Given the description of an element on the screen output the (x, y) to click on. 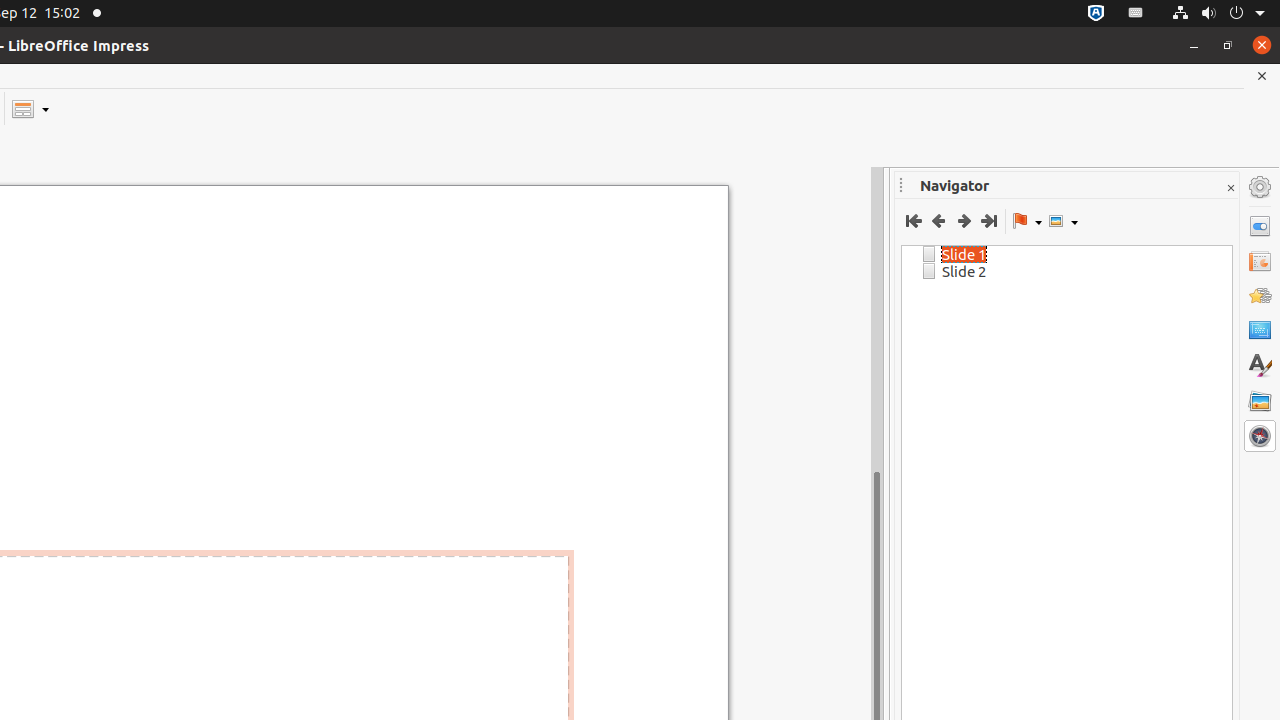
:1.21/StatusNotifierItem Element type: menu (1136, 13)
Gallery Element type: radio-button (1260, 401)
Last Slide Element type: push-button (988, 221)
Navigator Element type: radio-button (1260, 436)
Master Slides Element type: radio-button (1260, 331)
